Given the description of an element on the screen output the (x, y) to click on. 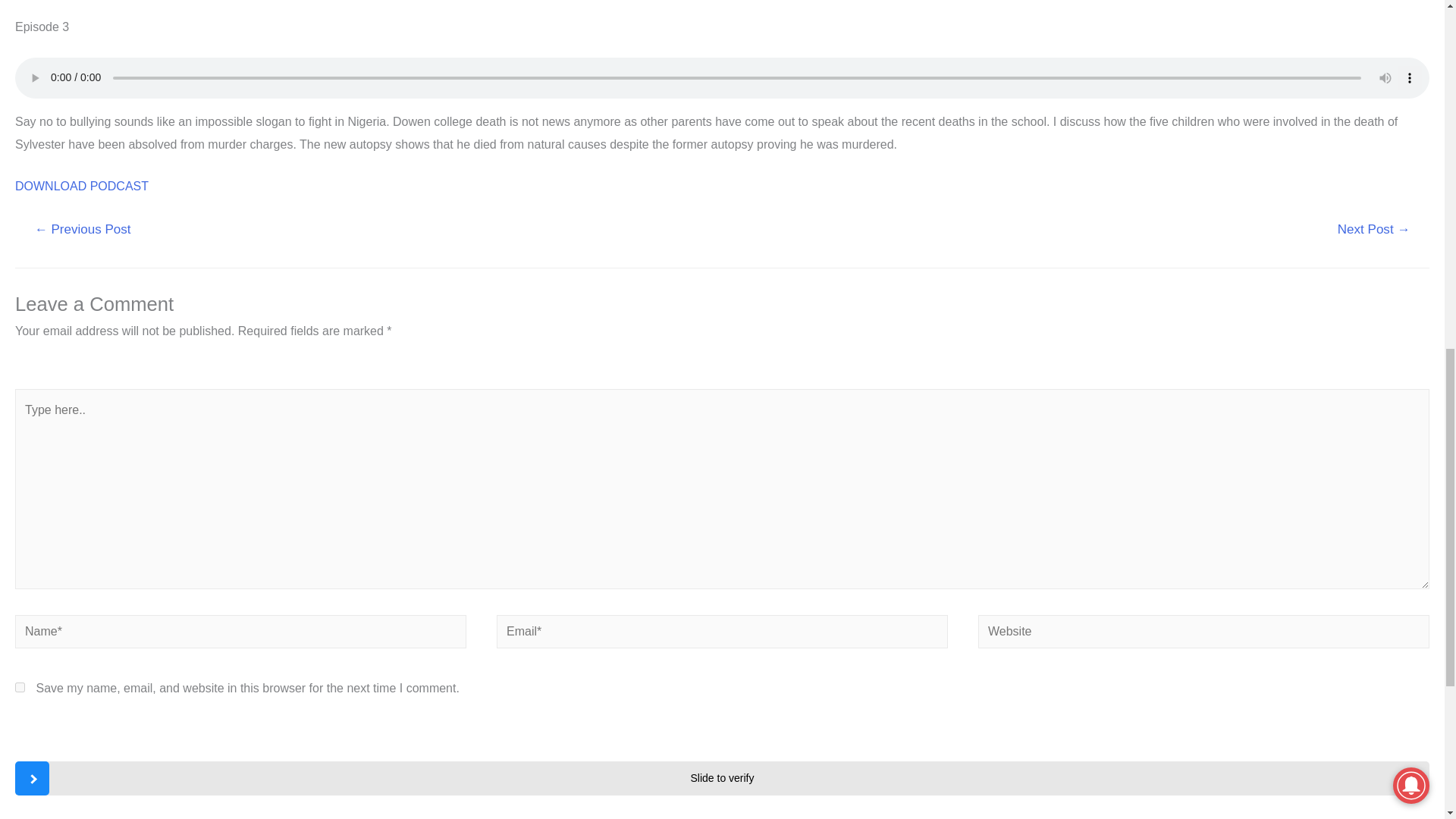
yes (19, 687)
DOWNLOAD PODCAST (81, 185)
